Given the description of an element on the screen output the (x, y) to click on. 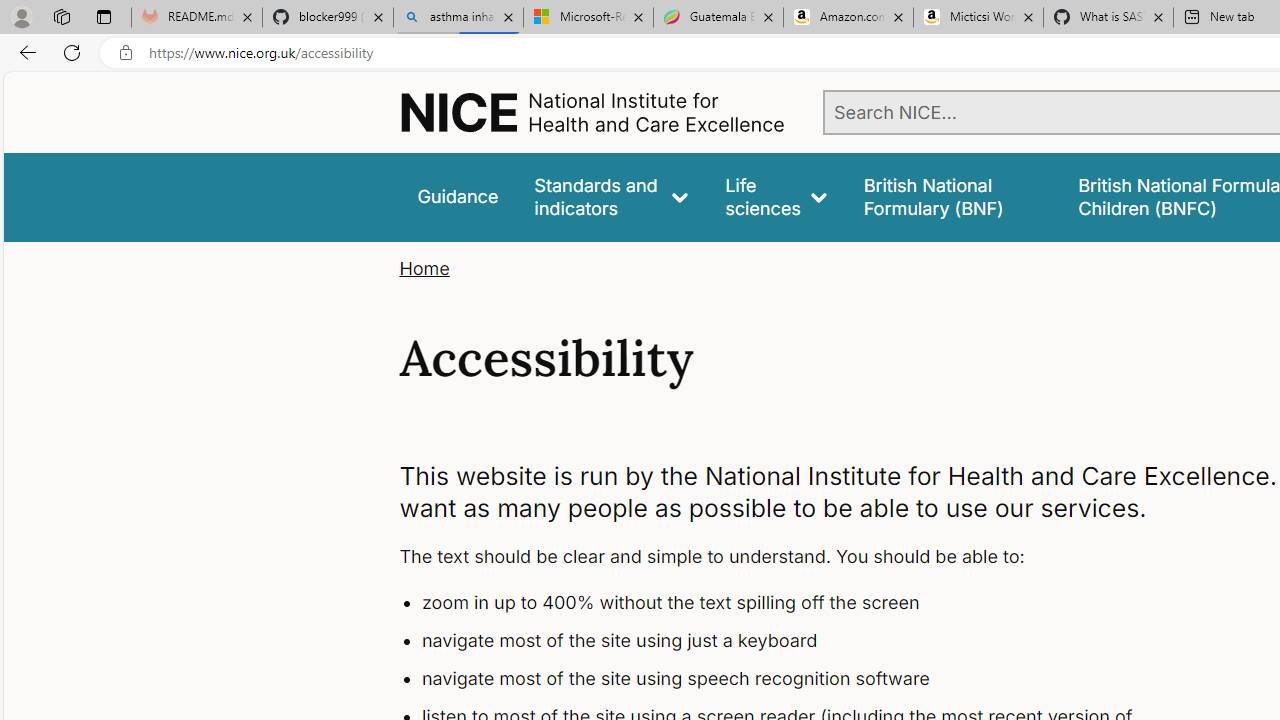
false (952, 196)
asthma inhaler - Search (458, 17)
